Given the description of an element on the screen output the (x, y) to click on. 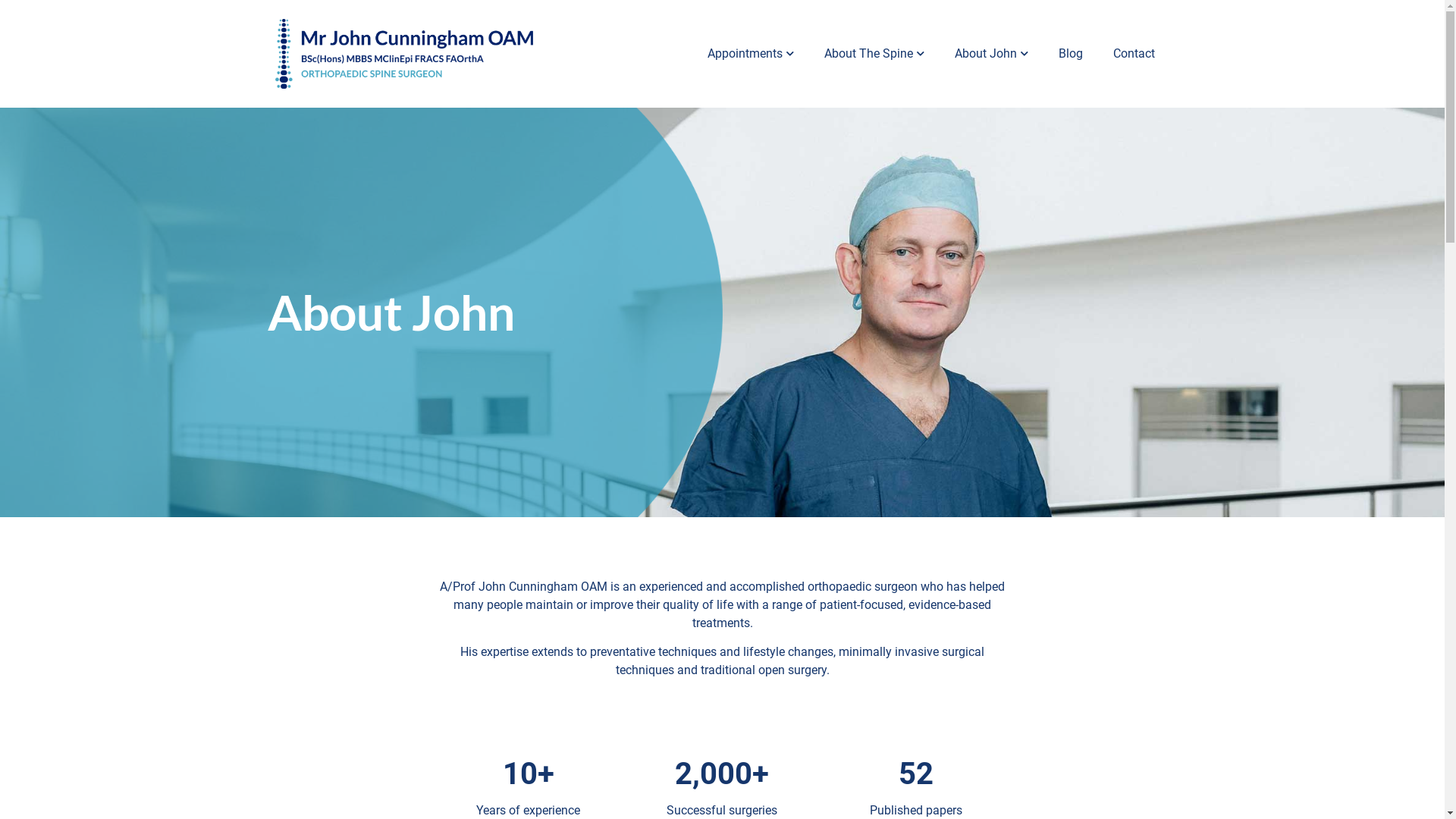
Contact Element type: text (1134, 53)
About The Spine Element type: text (873, 53)
About John Element type: text (990, 53)
Blog Element type: text (1070, 53)
Appointments Element type: text (749, 53)
